Given the description of an element on the screen output the (x, y) to click on. 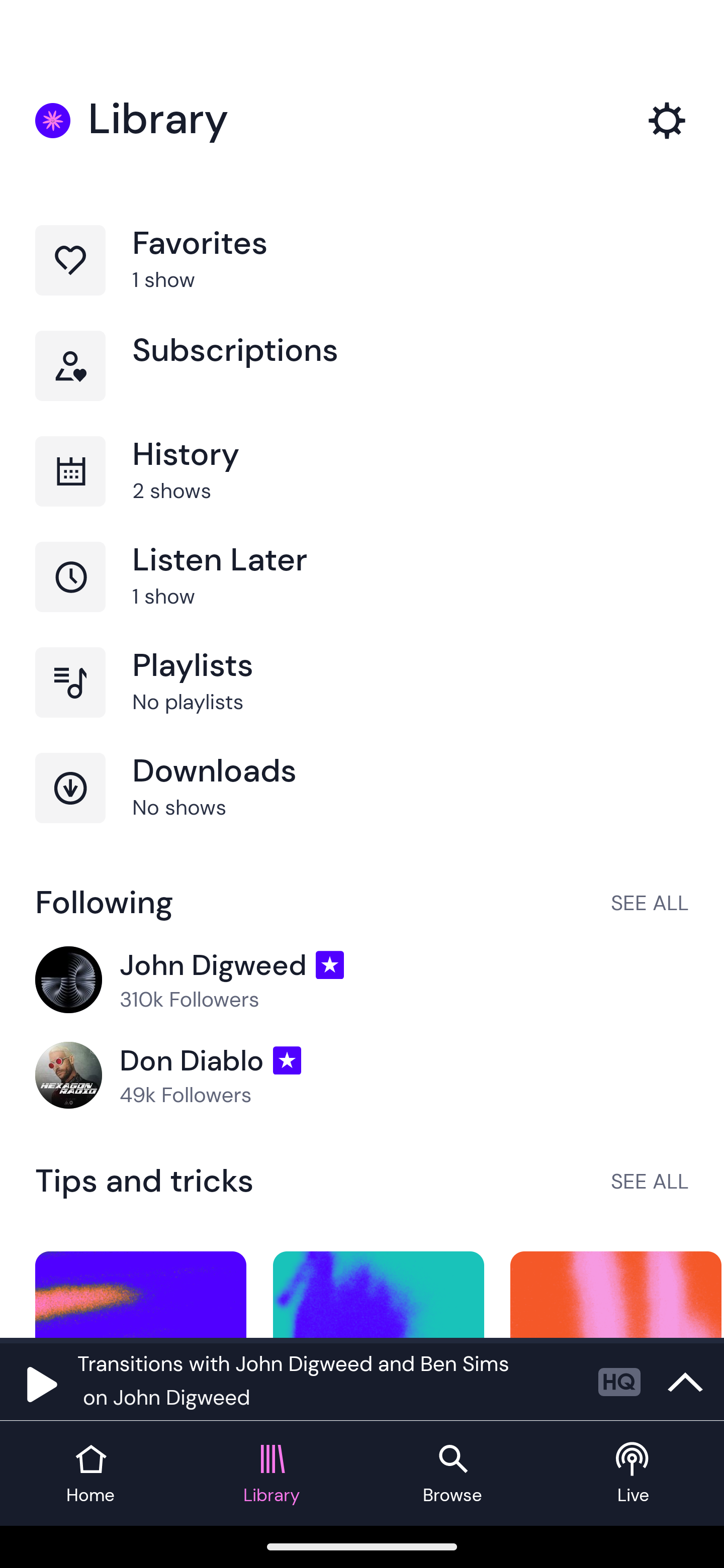
Favorites, 1 show Favorites 1 show (361, 277)
Subscriptions (361, 382)
History, 2 shows History 2 shows (361, 488)
Listen Later, 1 show Listen Later 1 show (361, 594)
Playlists, No playlists Playlists No playlists (361, 699)
Downloads, No shows Downloads No shows (361, 804)
SEE ALL (649, 902)
Don Diablo, 49k Followers Don Diablo 49k Followers (361, 1075)
SEE ALL (649, 1181)
Home tab Home (90, 1473)
Library tab Library (271, 1473)
Browse tab Browse (452, 1473)
Live tab Live (633, 1473)
